Given the description of an element on the screen output the (x, y) to click on. 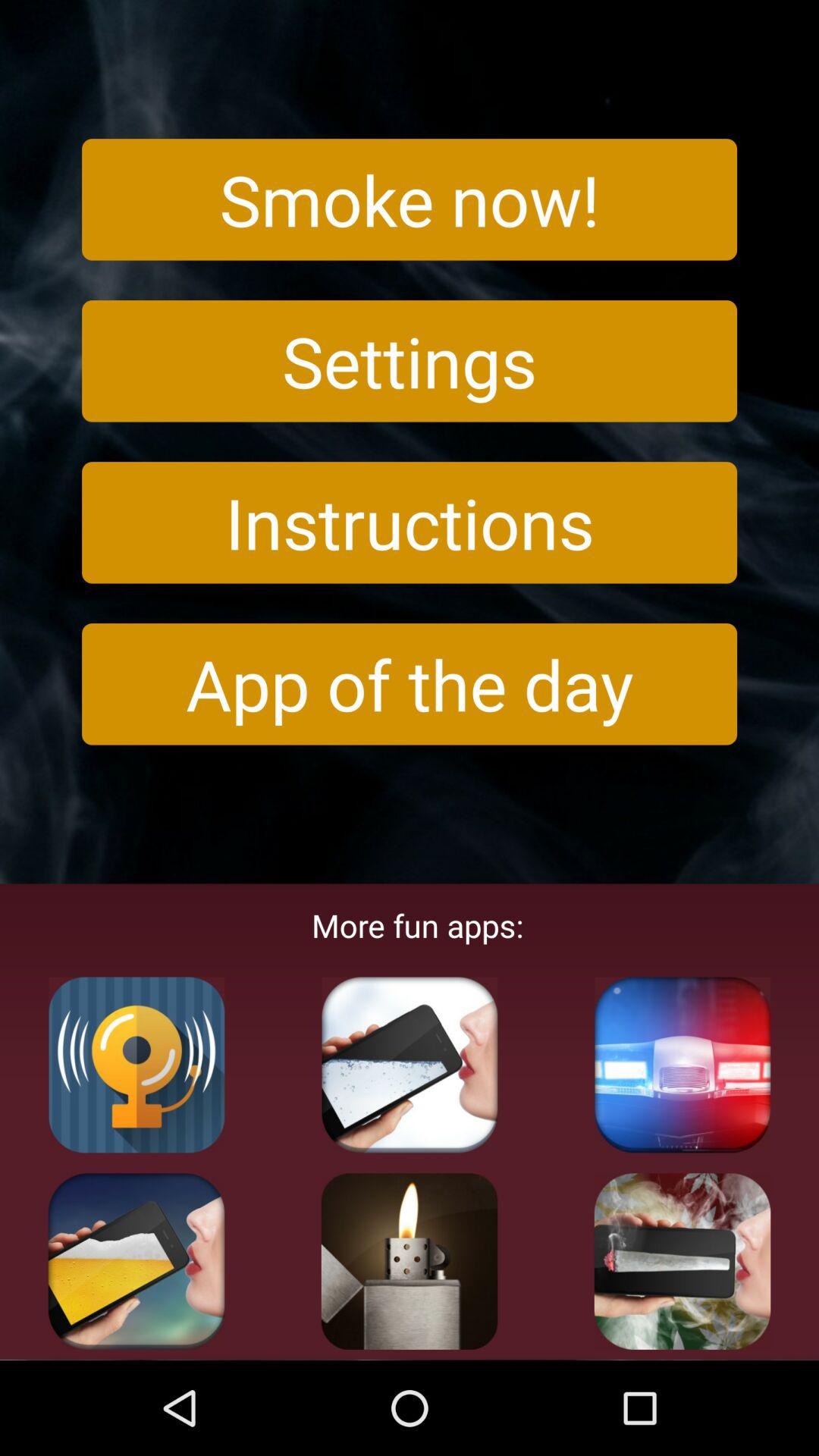
choose the selection (409, 1064)
